Given the description of an element on the screen output the (x, y) to click on. 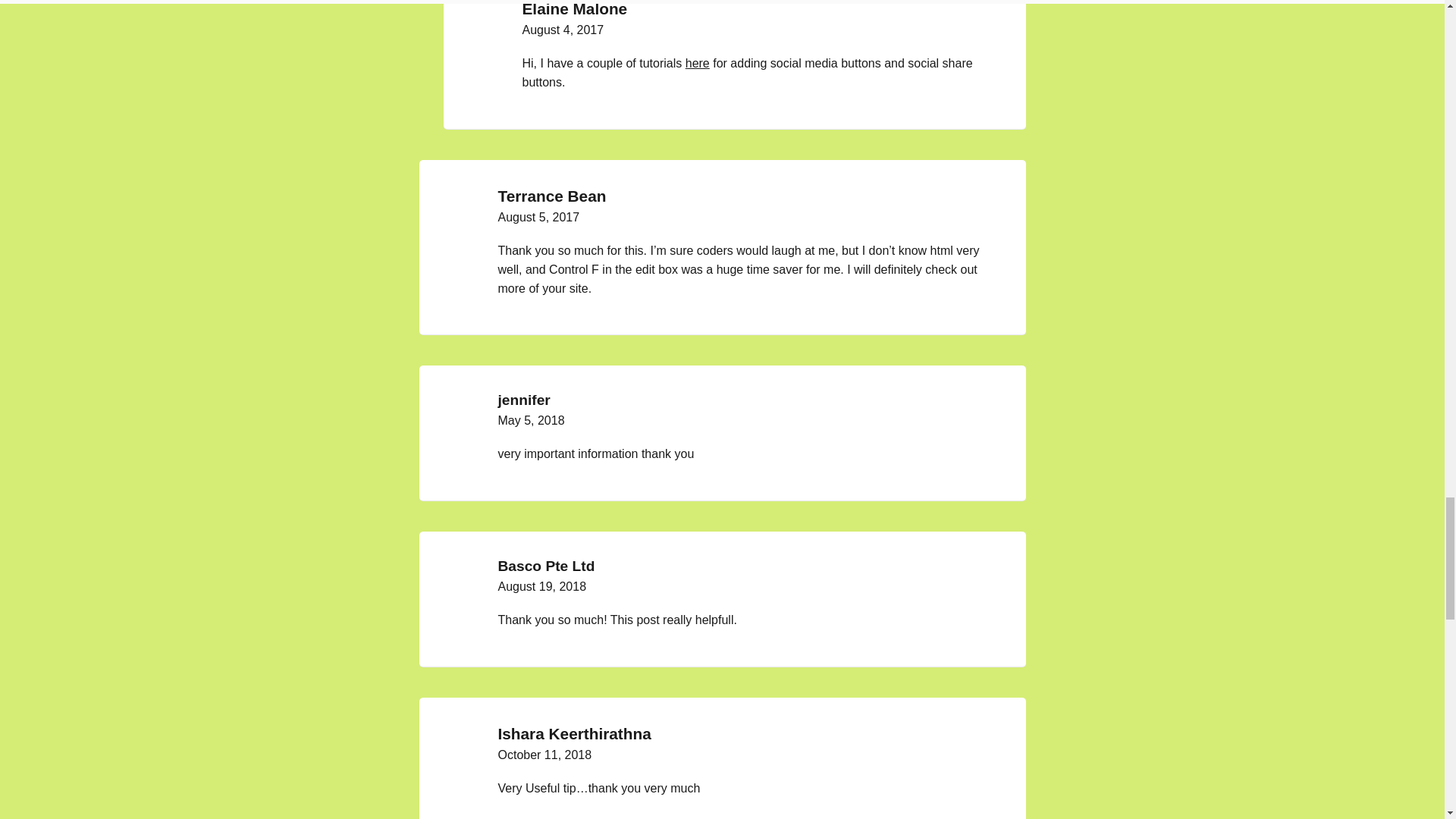
Elaine Malone (574, 8)
